Given the description of an element on the screen output the (x, y) to click on. 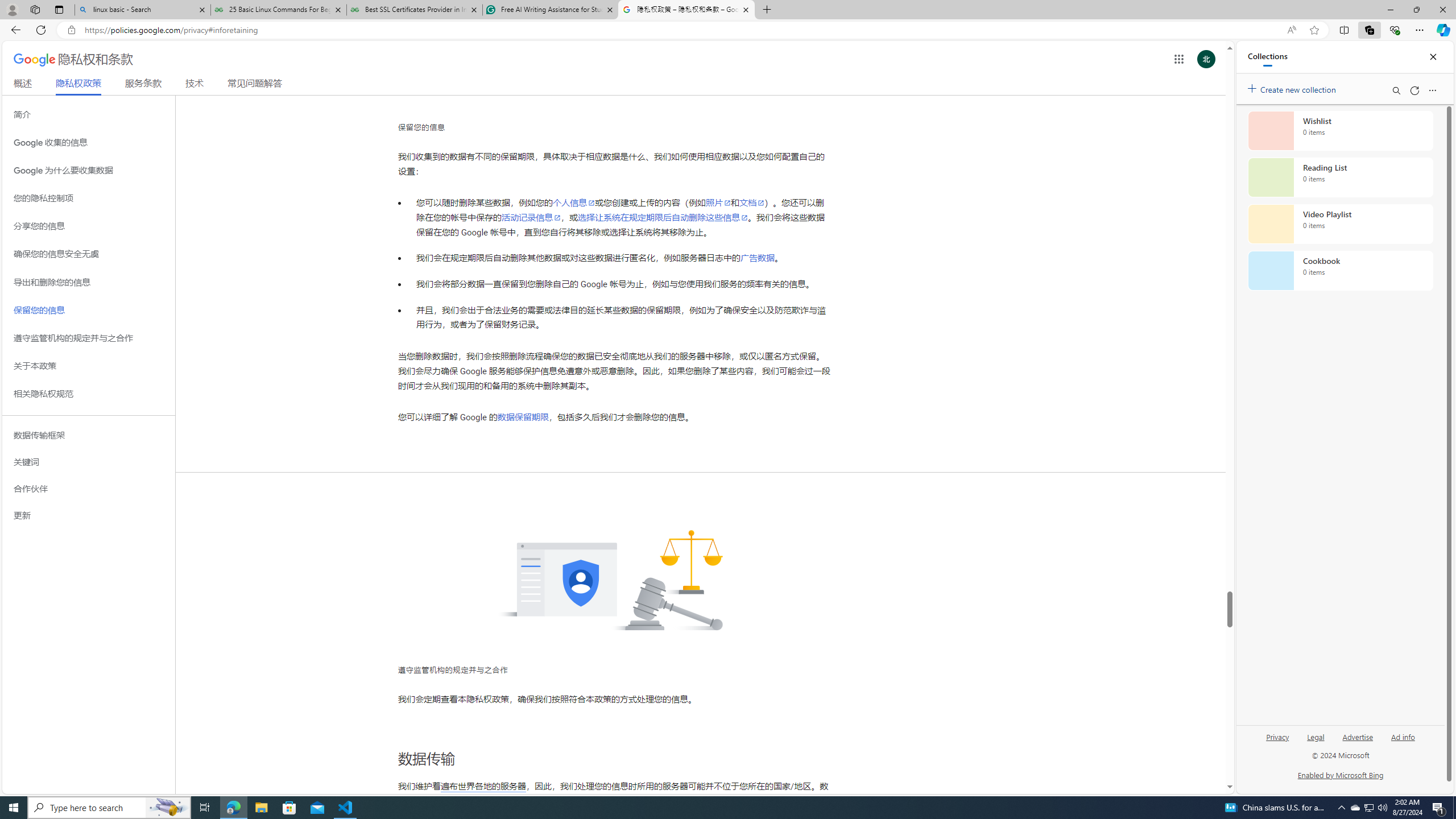
Cookbook collection, 0 items (1339, 270)
Reading List collection, 0 items (1339, 177)
